Given the description of an element on the screen output the (x, y) to click on. 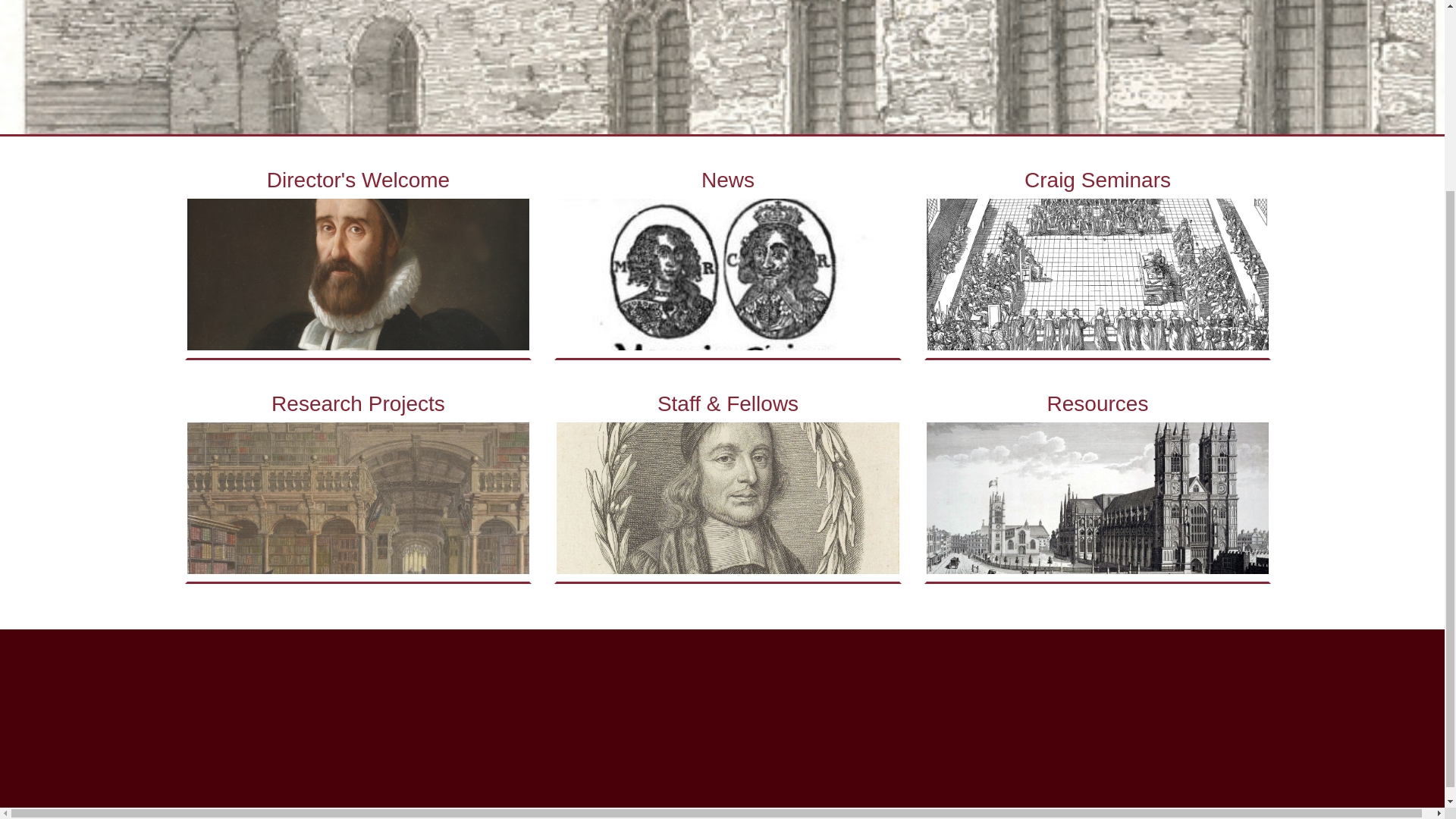
Research Projects (358, 483)
News (727, 259)
Director's Welcome (358, 259)
Resources (1097, 483)
Craig Seminars (1097, 259)
